Given the description of an element on the screen output the (x, y) to click on. 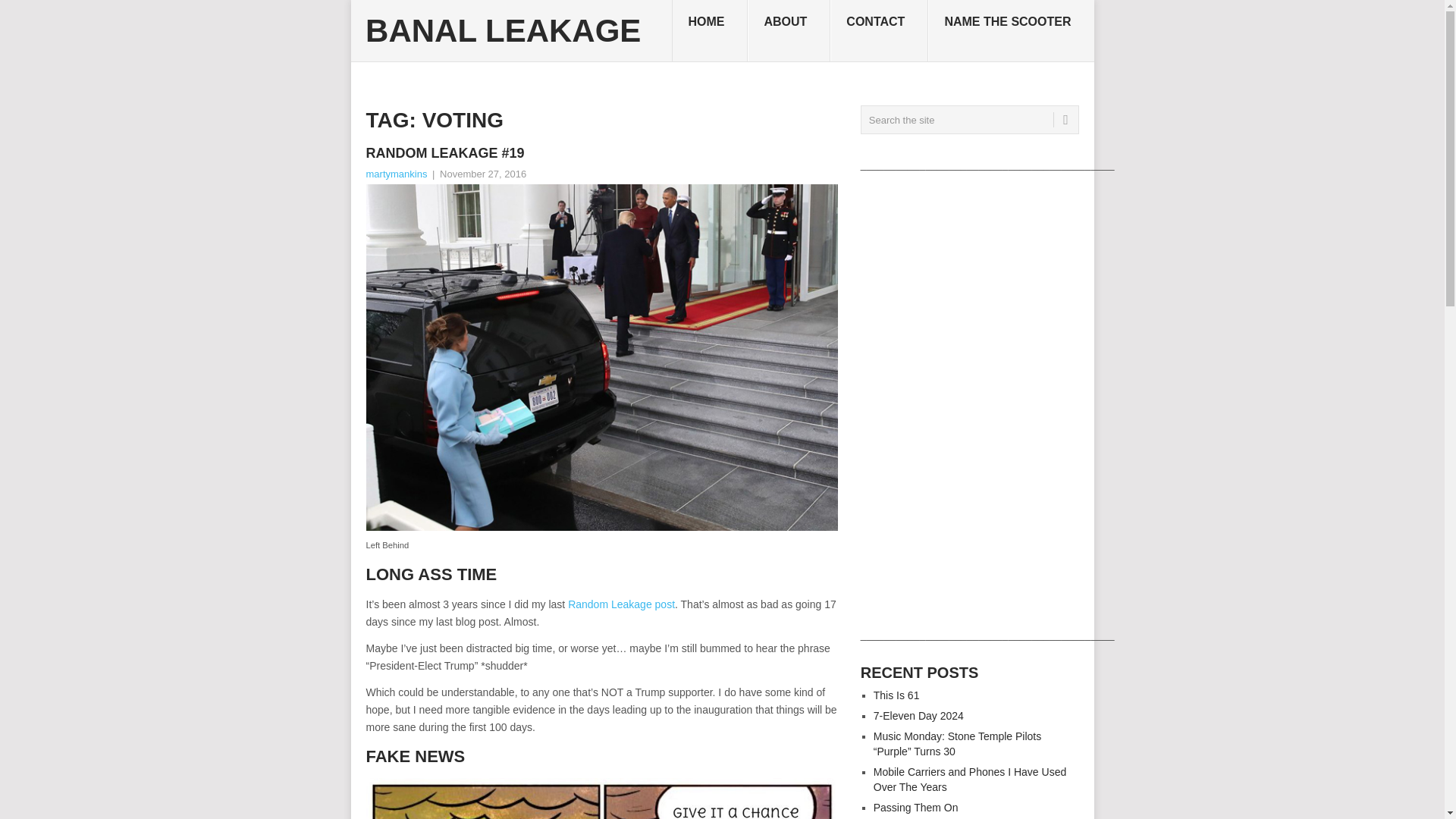
Search the site (969, 119)
Mobile Carriers and Phones I Have Used Over The Years (969, 779)
This Is 61 (896, 695)
Random Leakage post (621, 604)
Posts by martymankins (395, 173)
7-Eleven Day 2024 (918, 715)
Passing Them On (915, 807)
HOME (709, 31)
BANAL LEAKAGE (502, 30)
martymankins (395, 173)
